Given the description of an element on the screen output the (x, y) to click on. 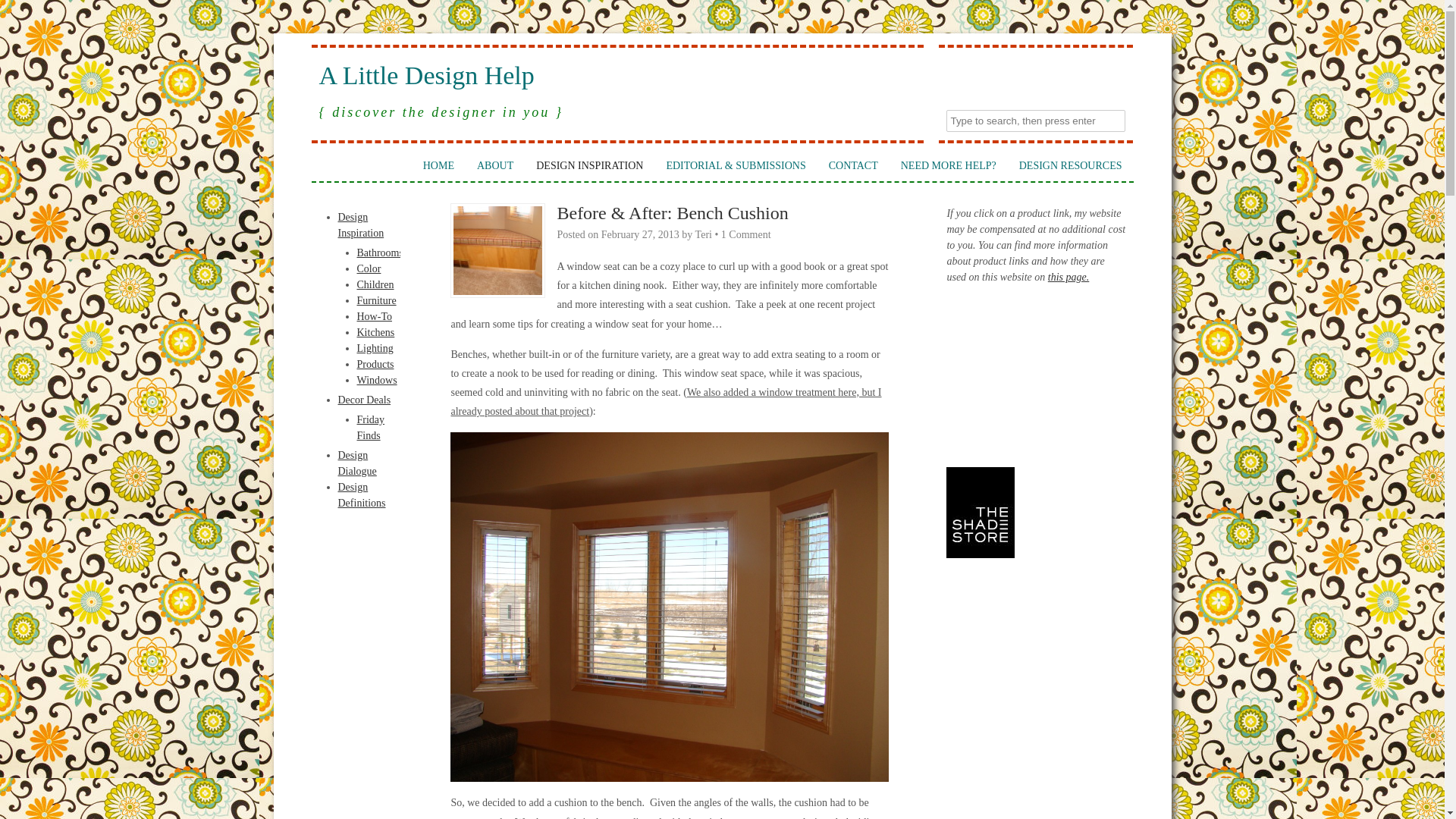
Design Inspiration (360, 225)
Before and After:  Bay Window Valance (664, 401)
Color (368, 268)
HOME (438, 165)
Bathrooms (379, 252)
DESIGN INSPIRATION (588, 165)
Friday Finds (370, 427)
NEED MORE HELP? (948, 165)
Children (374, 284)
Design Definitions (361, 494)
Teri (703, 234)
Kitchens (375, 332)
CONTACT (852, 165)
Type to search, then press enter (1035, 120)
